Given the description of an element on the screen output the (x, y) to click on. 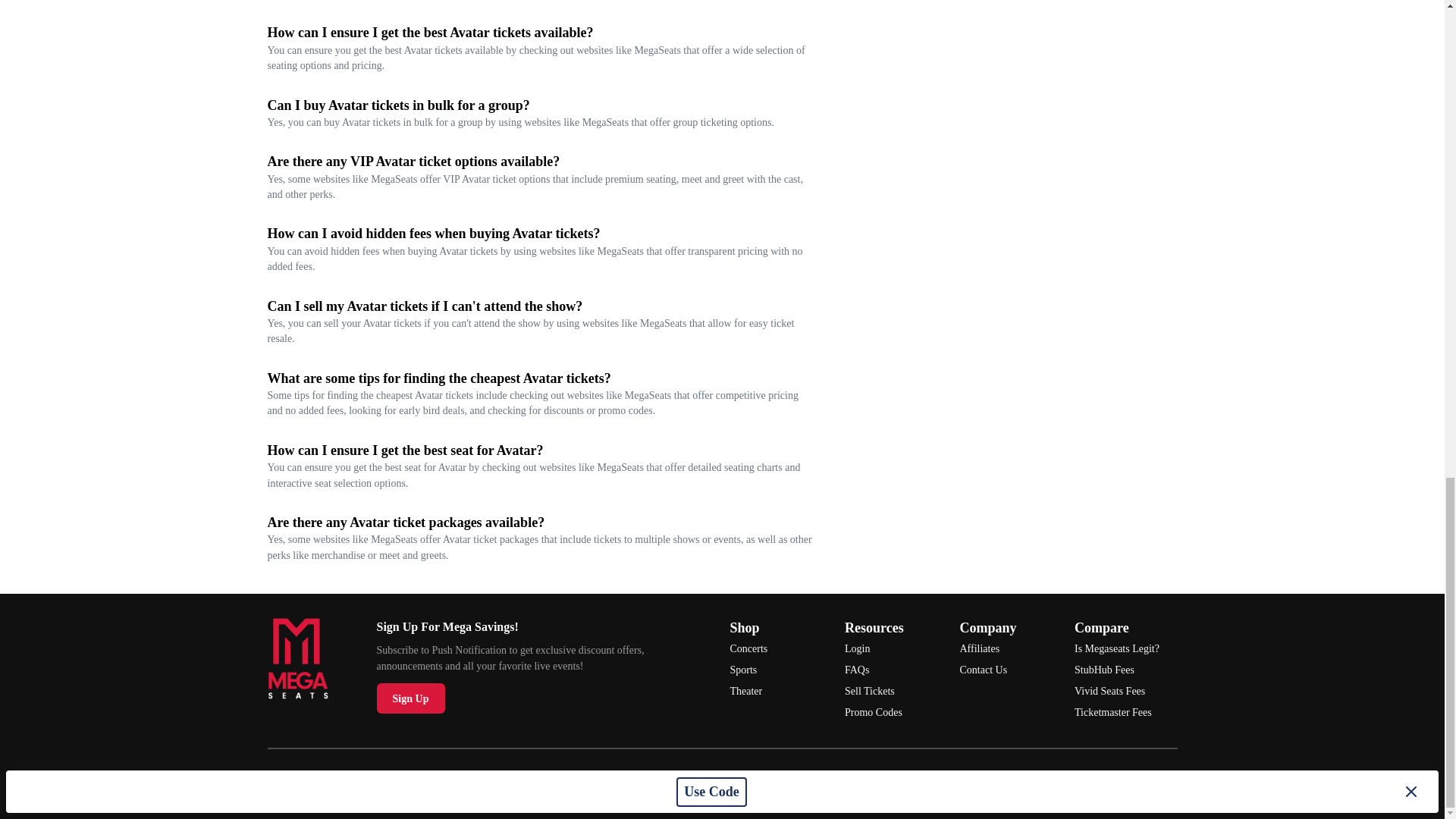
Affiliates (1010, 649)
Policies (997, 783)
Contact Us (1010, 670)
Sports (780, 670)
Vivid Seats Fees (1125, 690)
Sign Up (409, 698)
StubHub Fees (1125, 670)
Login (895, 649)
Sell Tickets (895, 690)
Concerts (780, 649)
Promo Codes (895, 712)
Is Megaseats Legit? (1125, 649)
Ticketmaster Fees (1125, 712)
Theater (780, 690)
FAQs (895, 670)
